Given the description of an element on the screen output the (x, y) to click on. 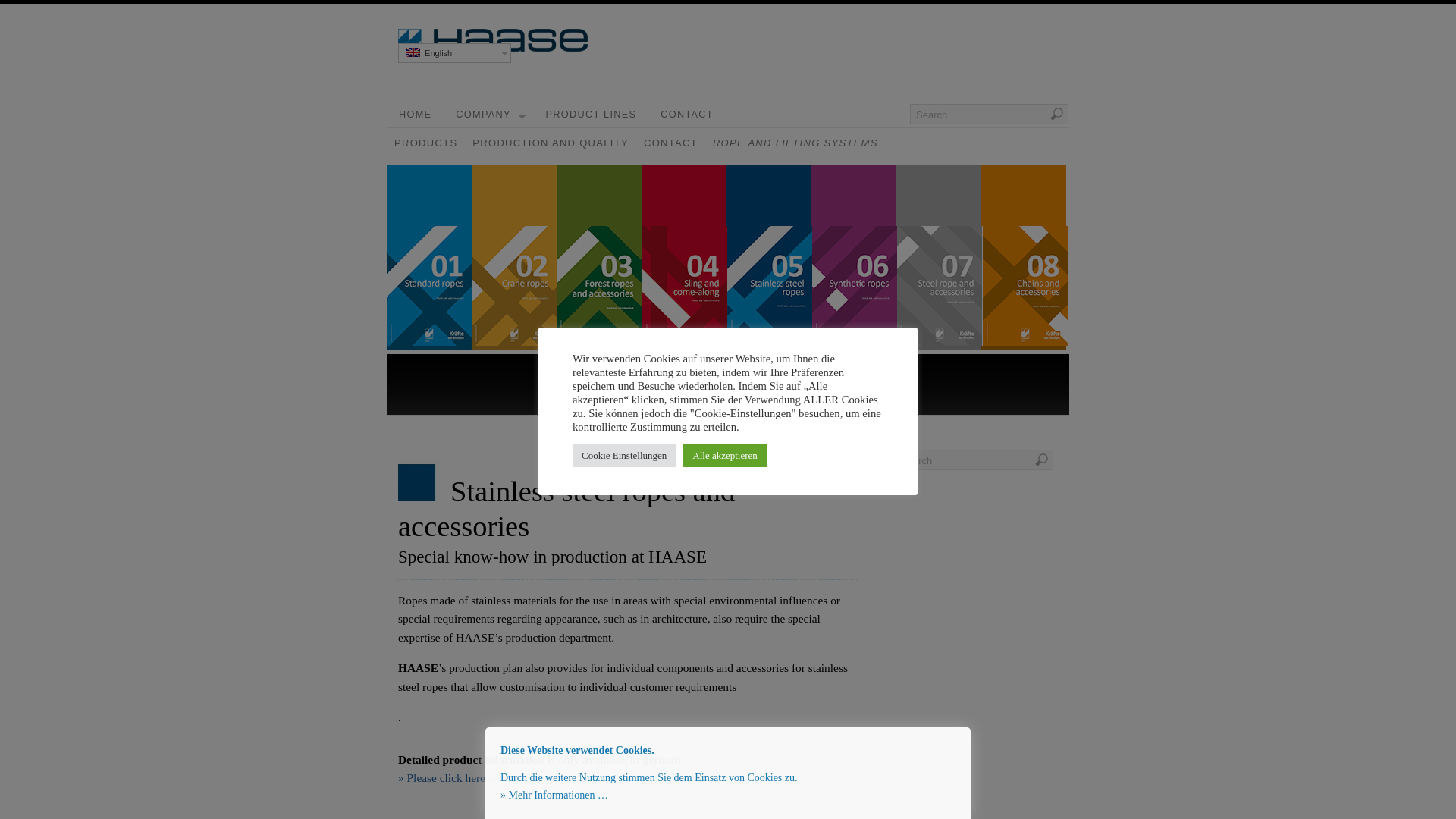
Search (973, 459)
Search (989, 114)
HOME (415, 114)
PRODUCTS (425, 142)
CONTACT (670, 142)
HAASE (547, 49)
PRODUCT LINES (591, 114)
 English (454, 53)
ROPE AND LIFTING SYSTEMS (794, 142)
COMPANY (488, 114)
